Given the description of an element on the screen output the (x, y) to click on. 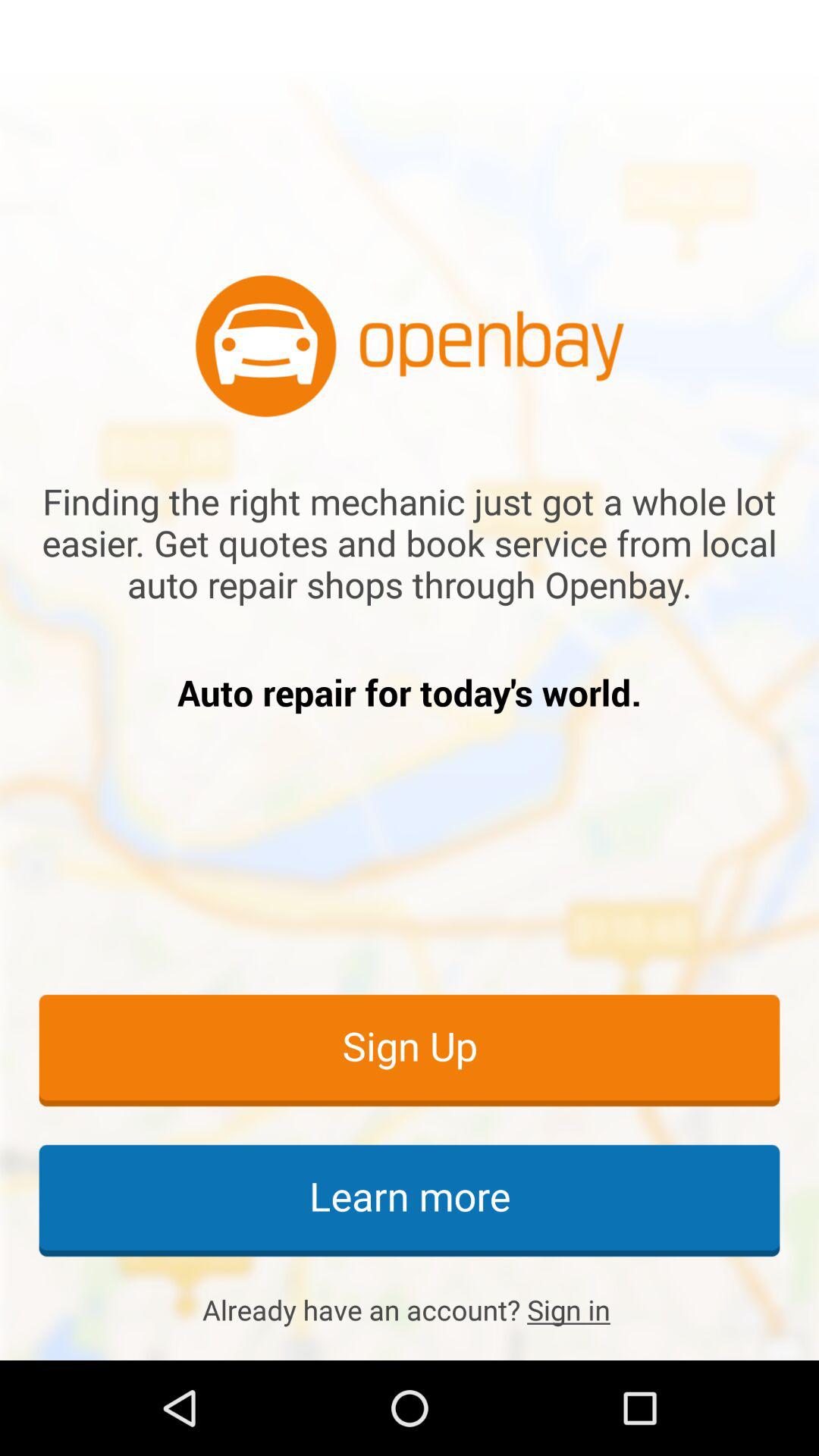
select icon below learn more icon (409, 1309)
